Given the description of an element on the screen output the (x, y) to click on. 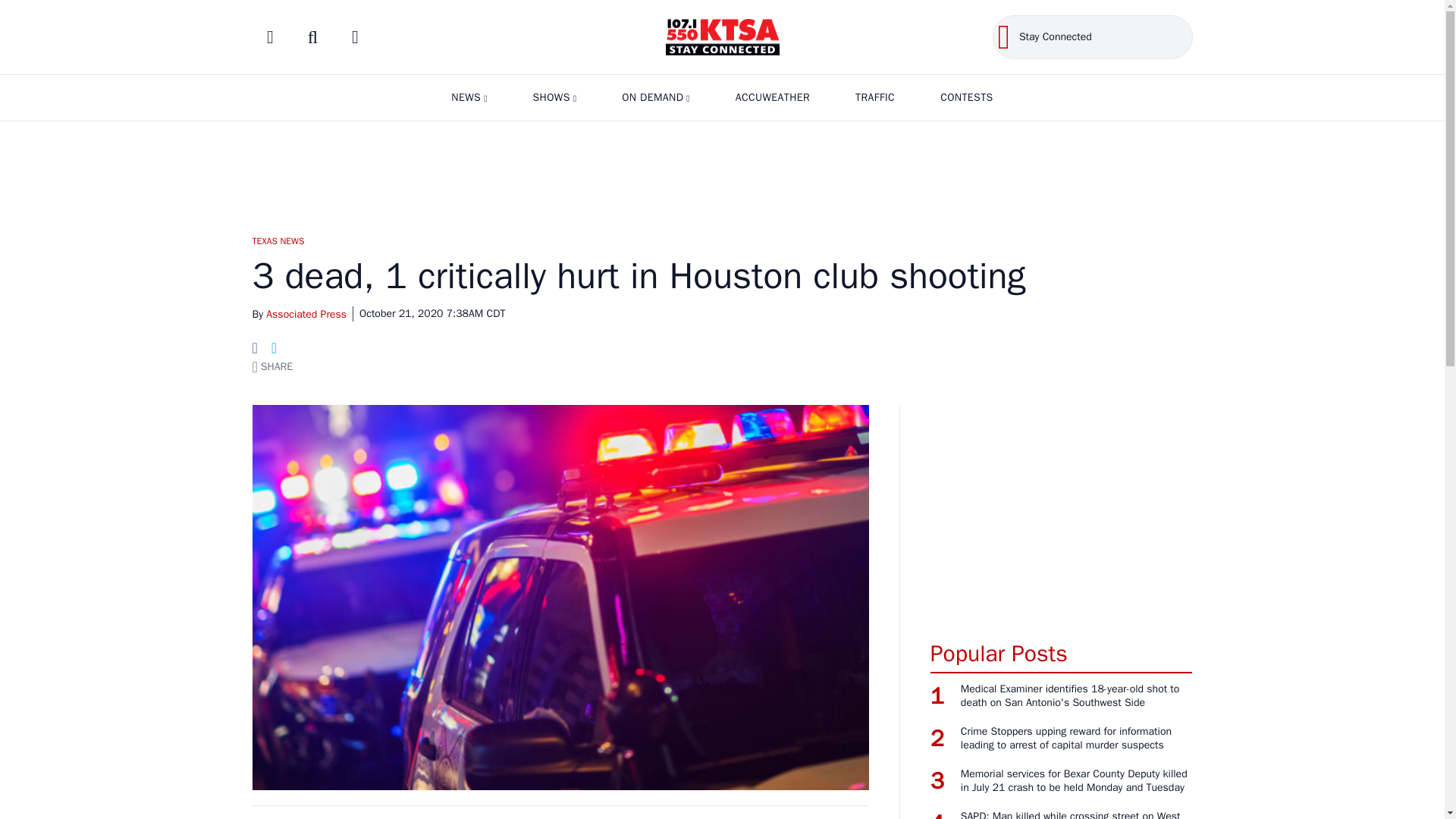
3rd party ad content (721, 170)
3rd party ad content (1060, 514)
